Given the description of an element on the screen output the (x, y) to click on. 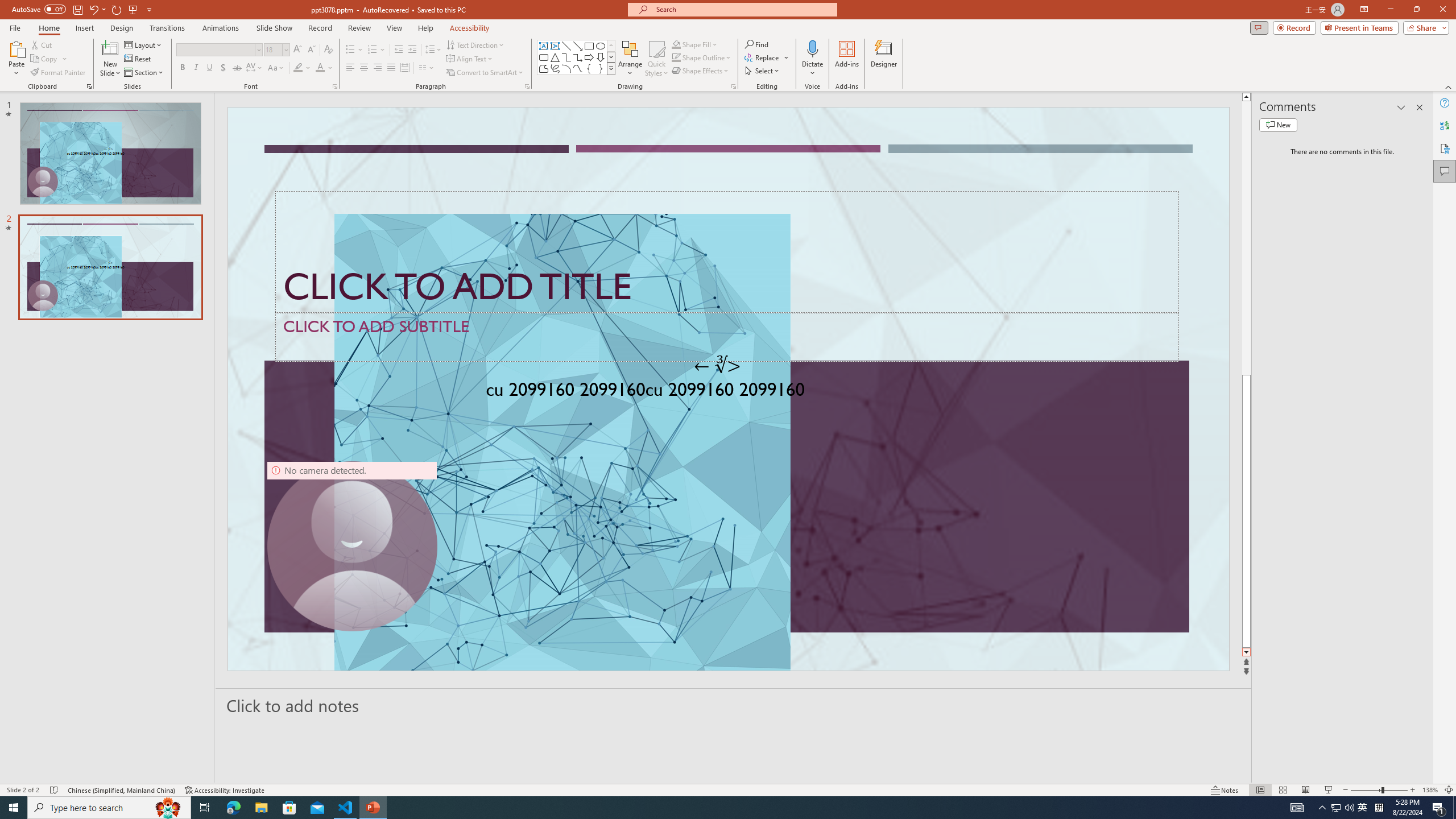
Shape Fill Dark Green, Accent 2 (675, 44)
Subtitle TextBox (727, 336)
Shape Effects (700, 69)
